Given the description of an element on the screen output the (x, y) to click on. 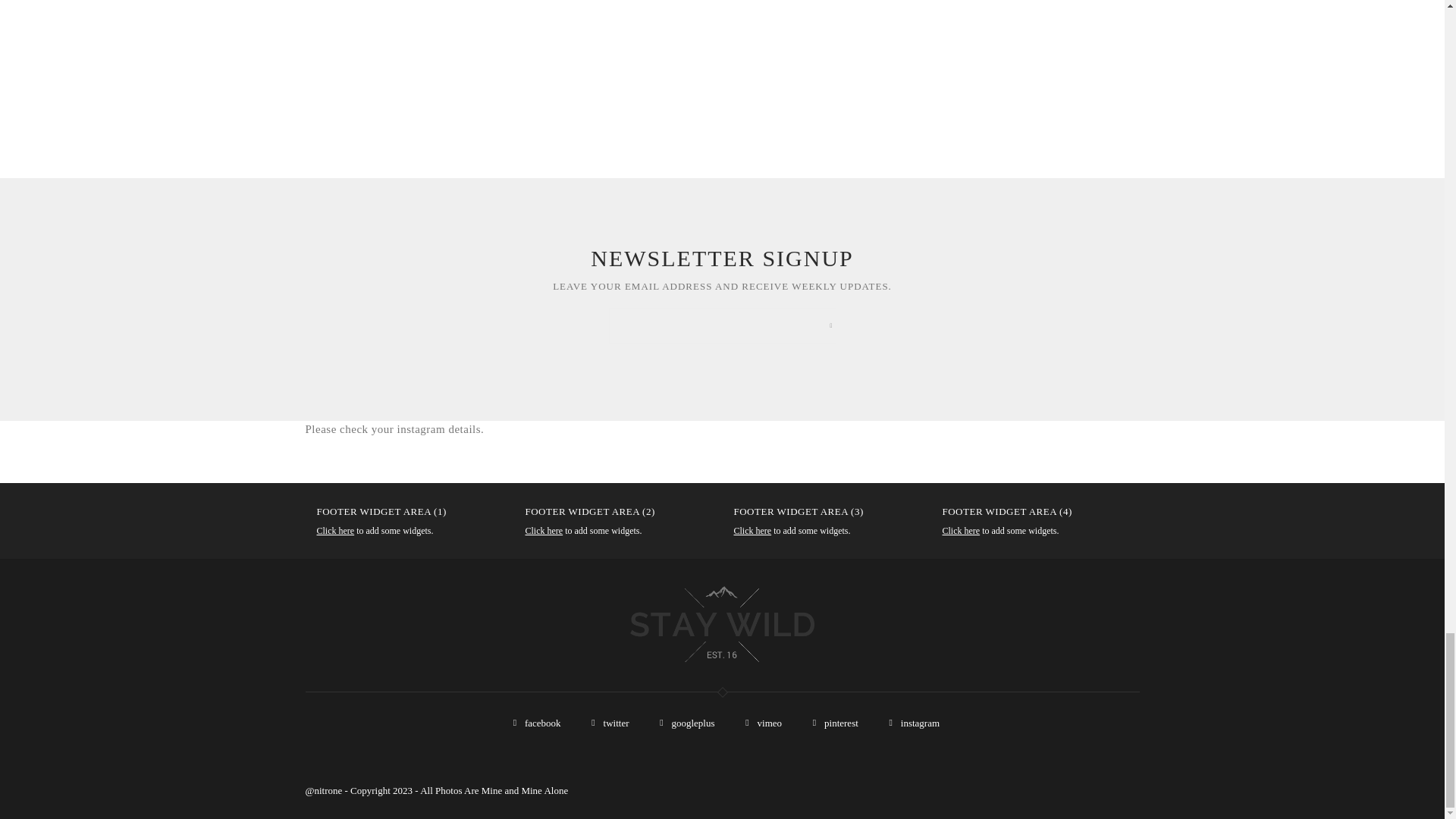
Comment Form (575, 64)
